Given the description of an element on the screen output the (x, y) to click on. 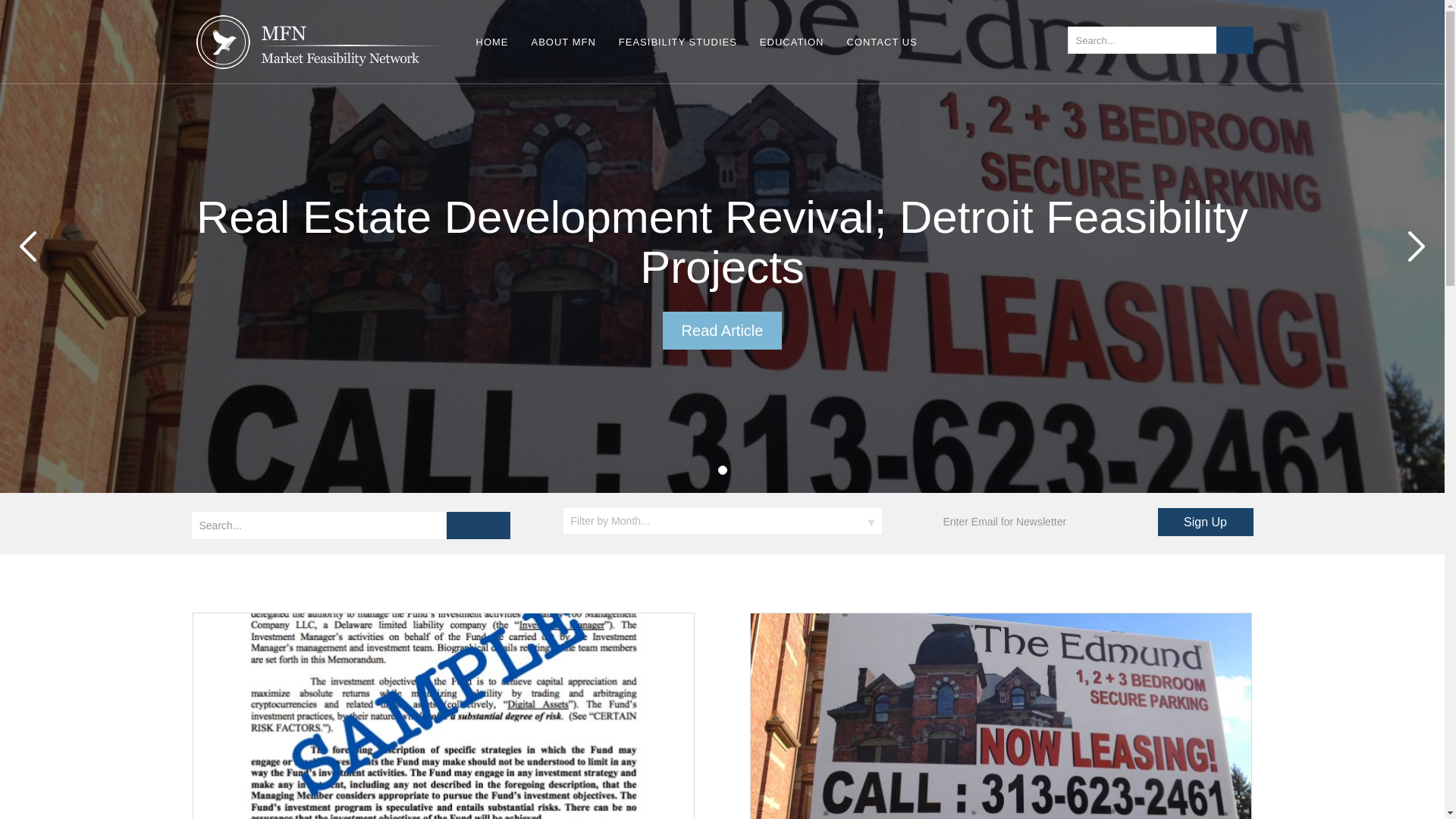
Sign Up (1204, 521)
FEASIBILITY STUDIES (677, 46)
ABOUT MFN (563, 46)
Read Article (722, 330)
Search (477, 524)
Search (1234, 40)
1 (721, 470)
Prospectus.com (314, 45)
HOME (492, 46)
EDUCATION (792, 46)
CONTACT US (881, 46)
